Given the description of an element on the screen output the (x, y) to click on. 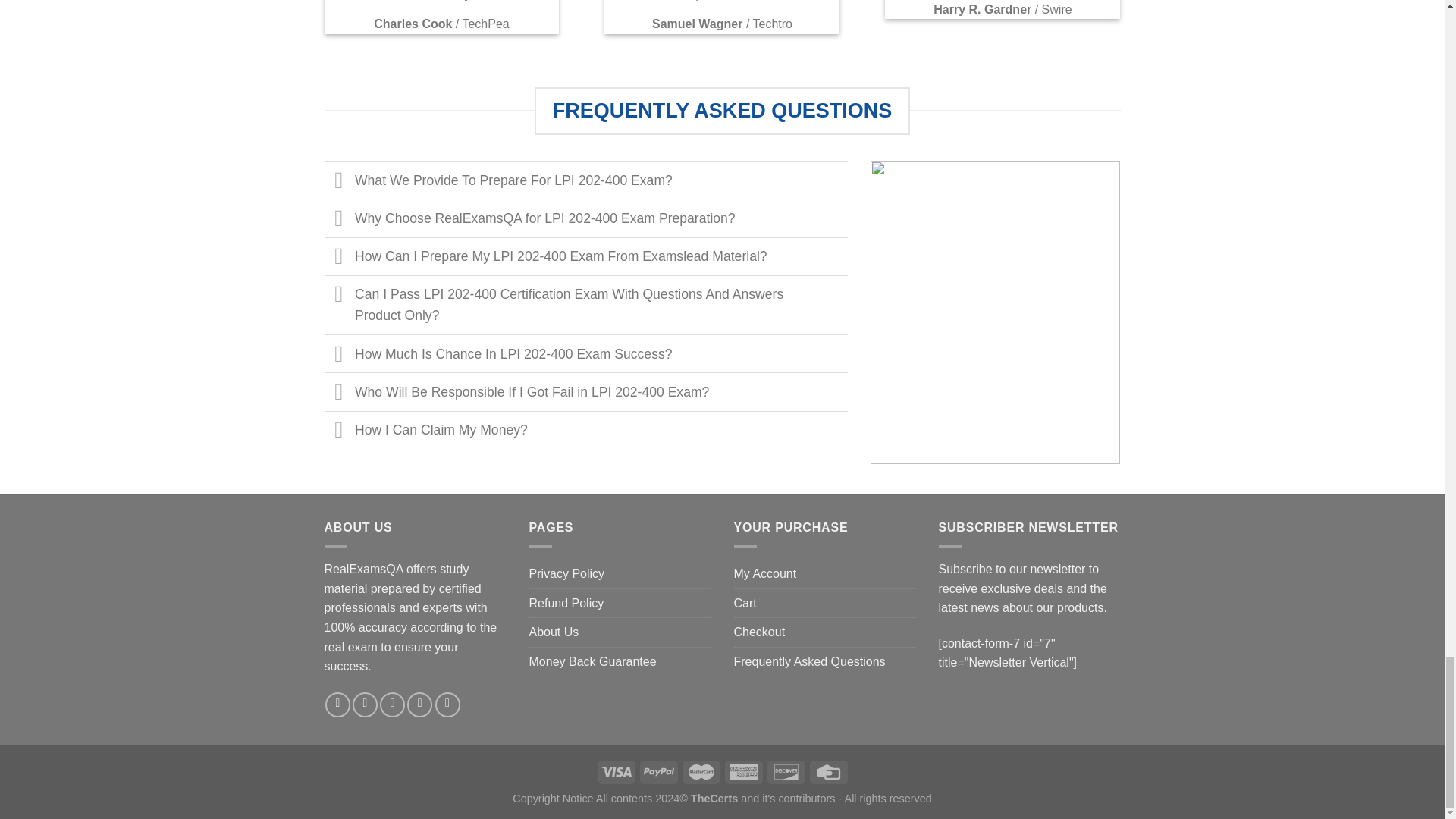
Follow on Instagram (364, 704)
Send us an email (419, 704)
Follow on Twitter (392, 704)
Follow on Facebook (337, 704)
Follow on Pinterest (447, 704)
